Given the description of an element on the screen output the (x, y) to click on. 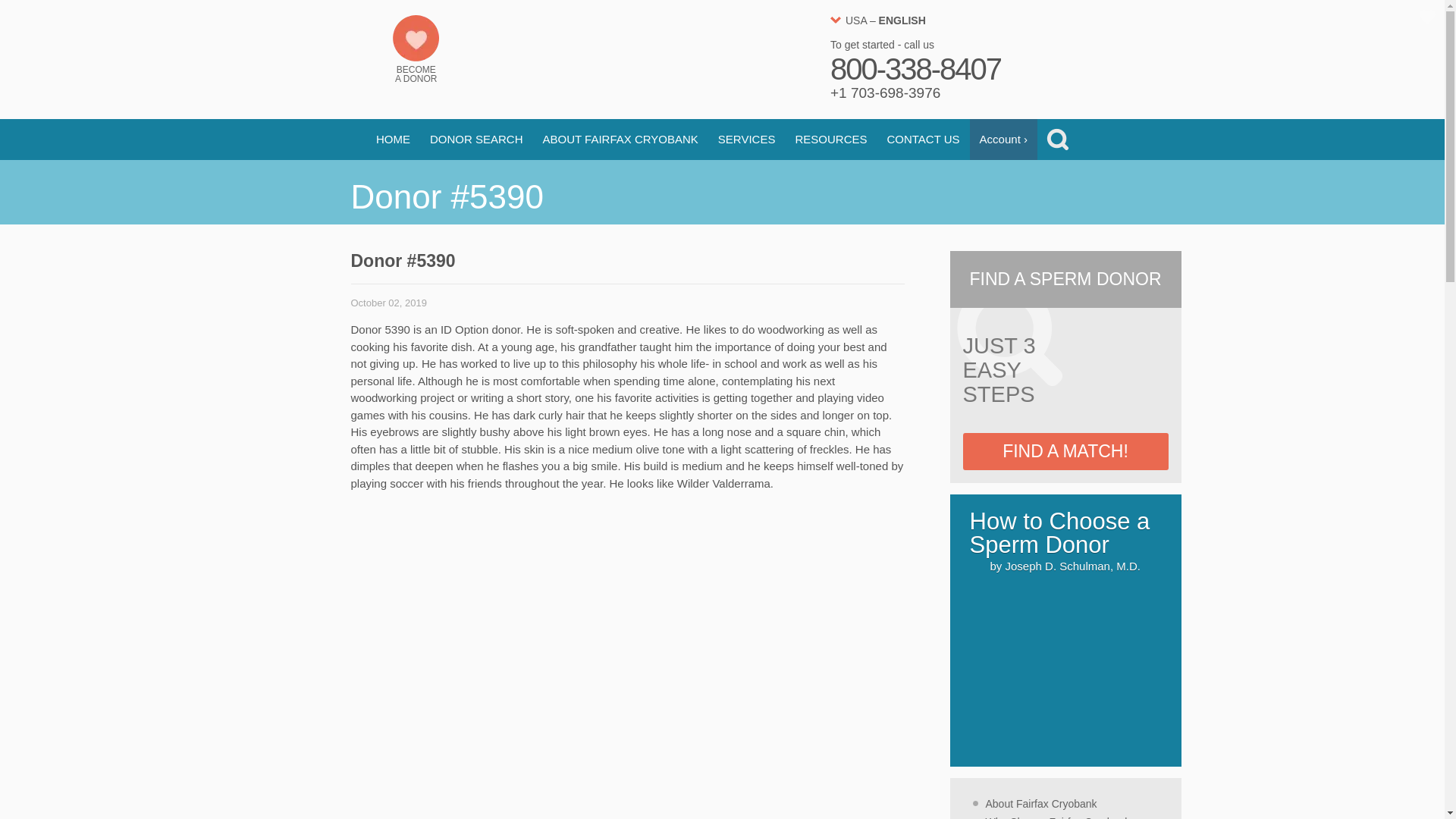
SERVICES (746, 138)
HOME (393, 138)
DONOR SEARCH (476, 138)
ABOUT FAIRFAX CRYOBANK (619, 138)
